Given the description of an element on the screen output the (x, y) to click on. 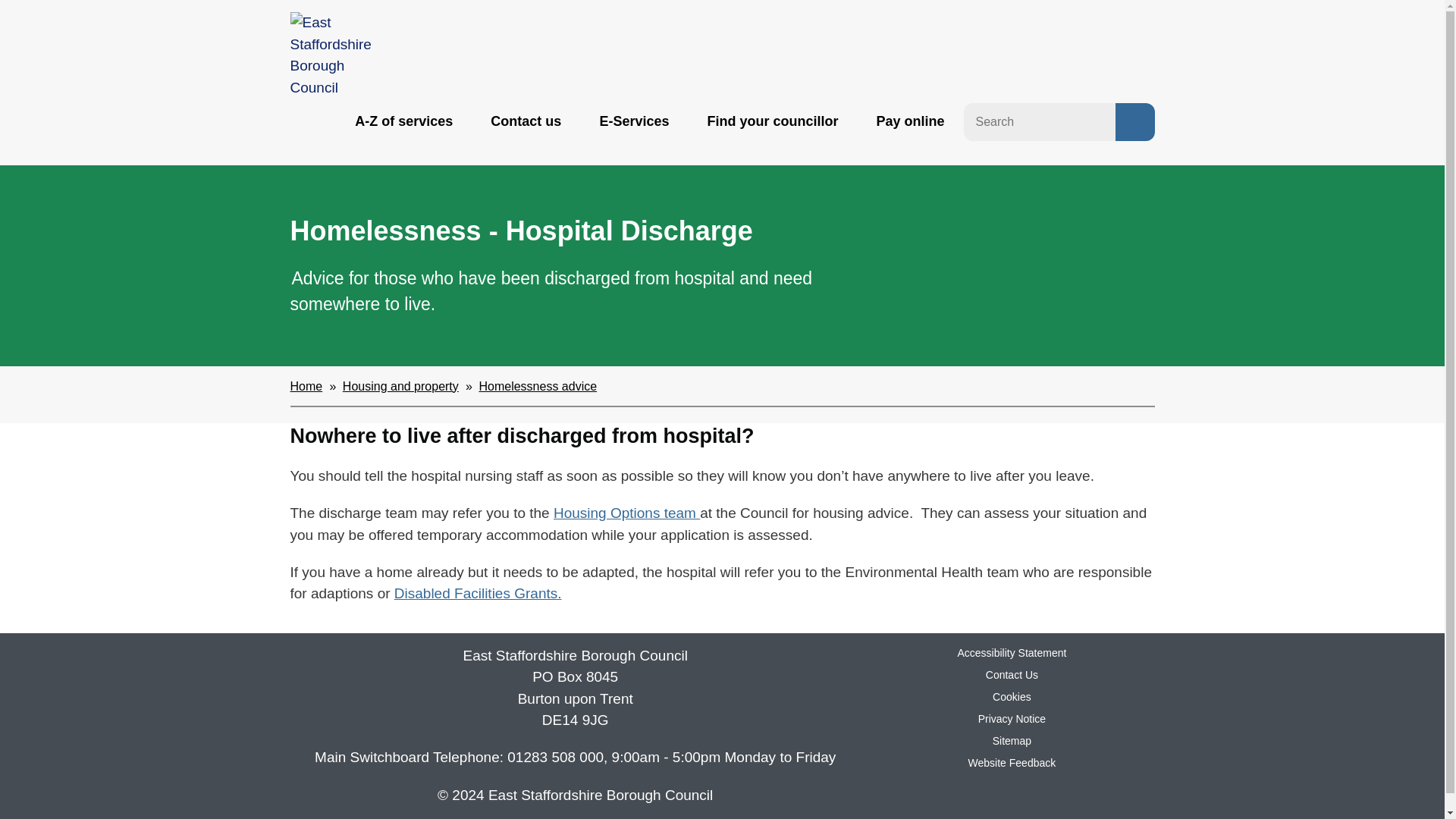
Contact us (525, 121)
Disabled Facilities Grants. (478, 593)
Accessibility Statement (1010, 653)
Pay online (909, 121)
Apply (1134, 121)
A-Z of services (403, 121)
Cookies (1011, 696)
Contact Us (1011, 674)
Apply (1134, 121)
Sitemap (1011, 740)
Find your councillor (772, 121)
Home (305, 386)
Privacy Notice (1011, 718)
Housing and property (400, 386)
